Given the description of an element on the screen output the (x, y) to click on. 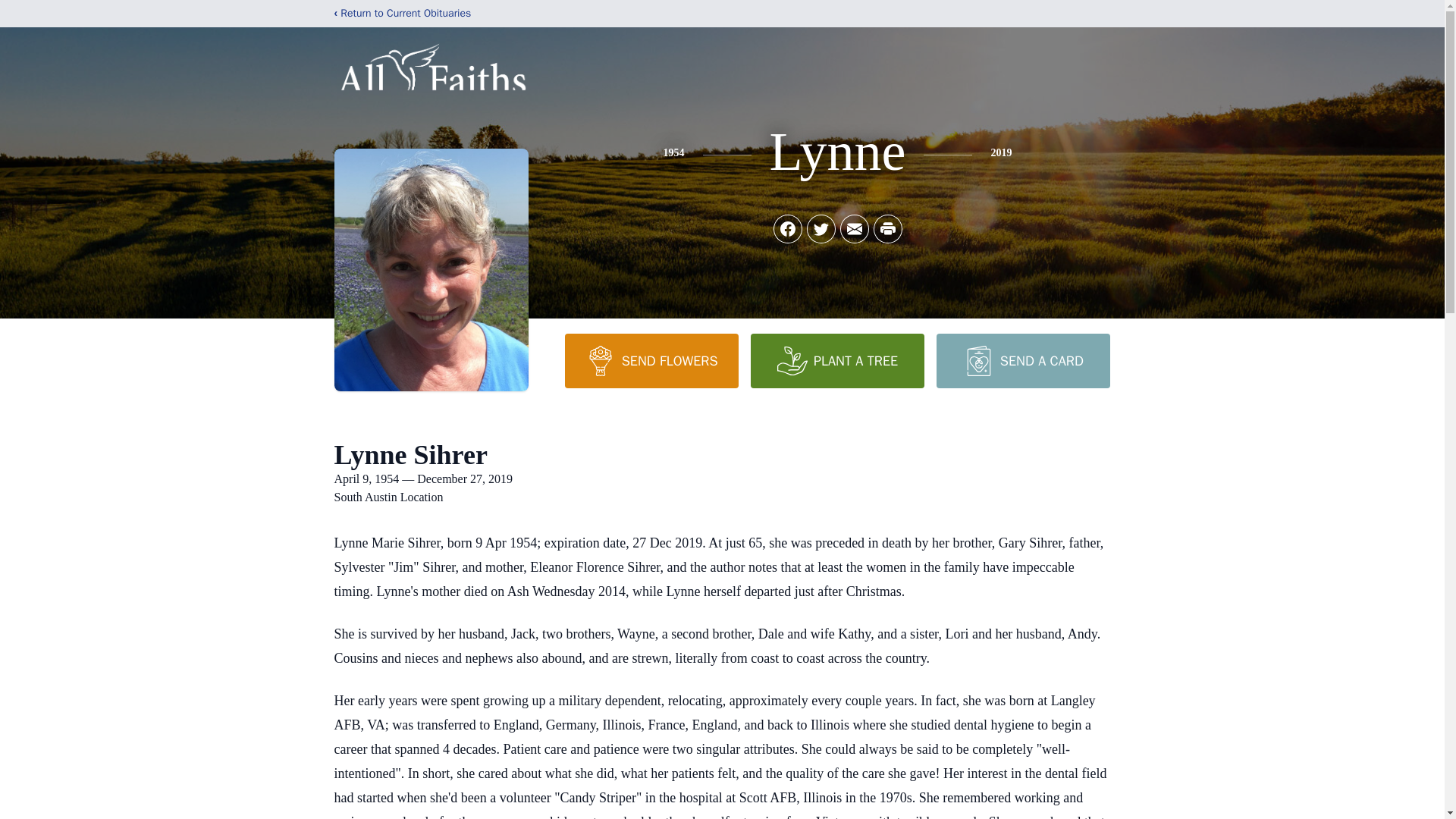
SEND FLOWERS (651, 360)
PLANT A TREE (837, 360)
SEND A CARD (1022, 360)
